Given the description of an element on the screen output the (x, y) to click on. 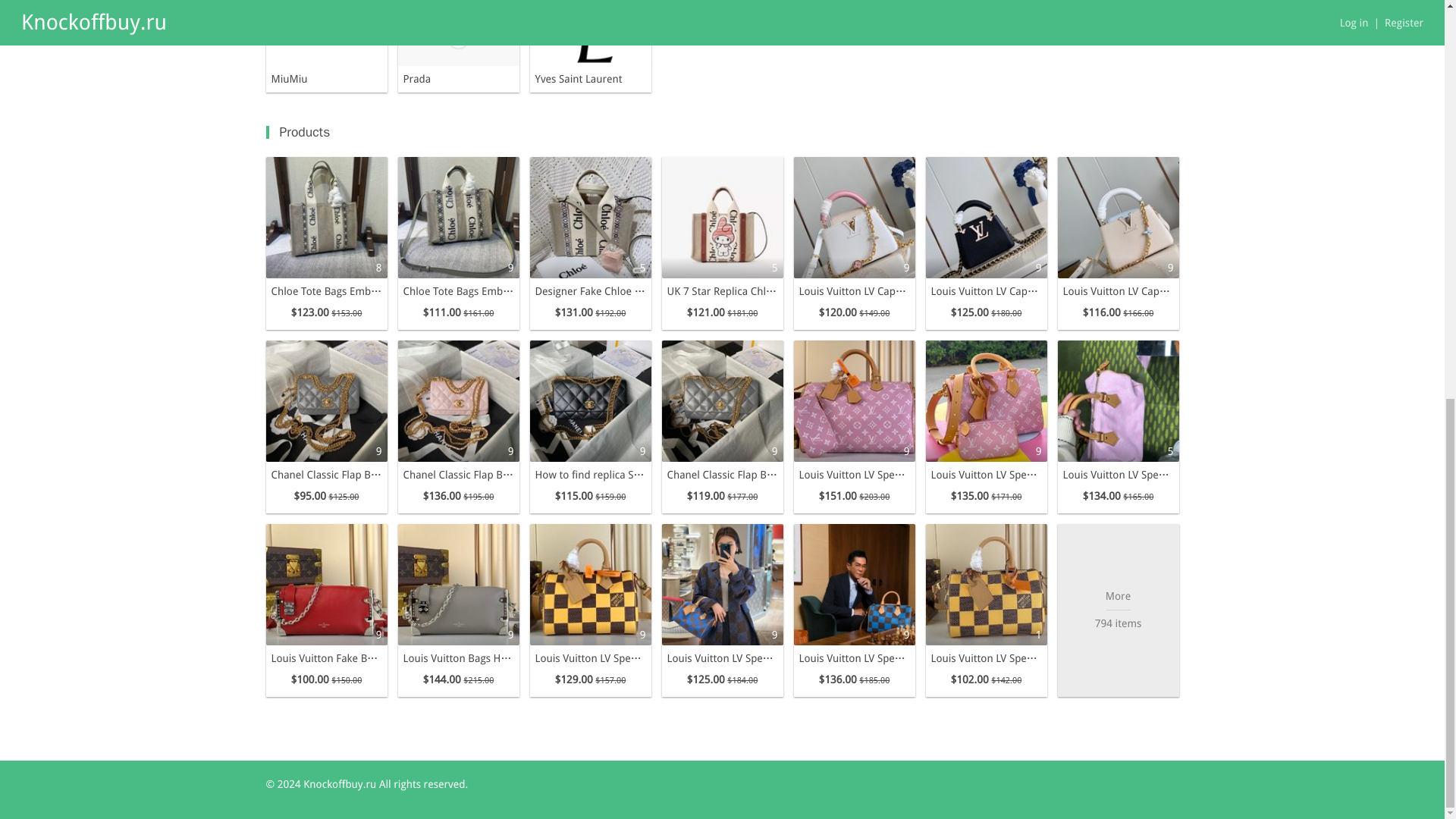
Louis Vuitton LV Speedy Bags Handbags Pink M24443 13 (985, 400)
UK 7 Star Replica Chloe Tote Bags Buy Luxury 2023 4 (722, 217)
Louis Vuitton LV Speedy Bags Handbags Pink M24443 14 (1117, 400)
Louis Vuitton Bags Handbags Grey Cowhide Chains M25445 16 (457, 584)
